Given the description of an element on the screen output the (x, y) to click on. 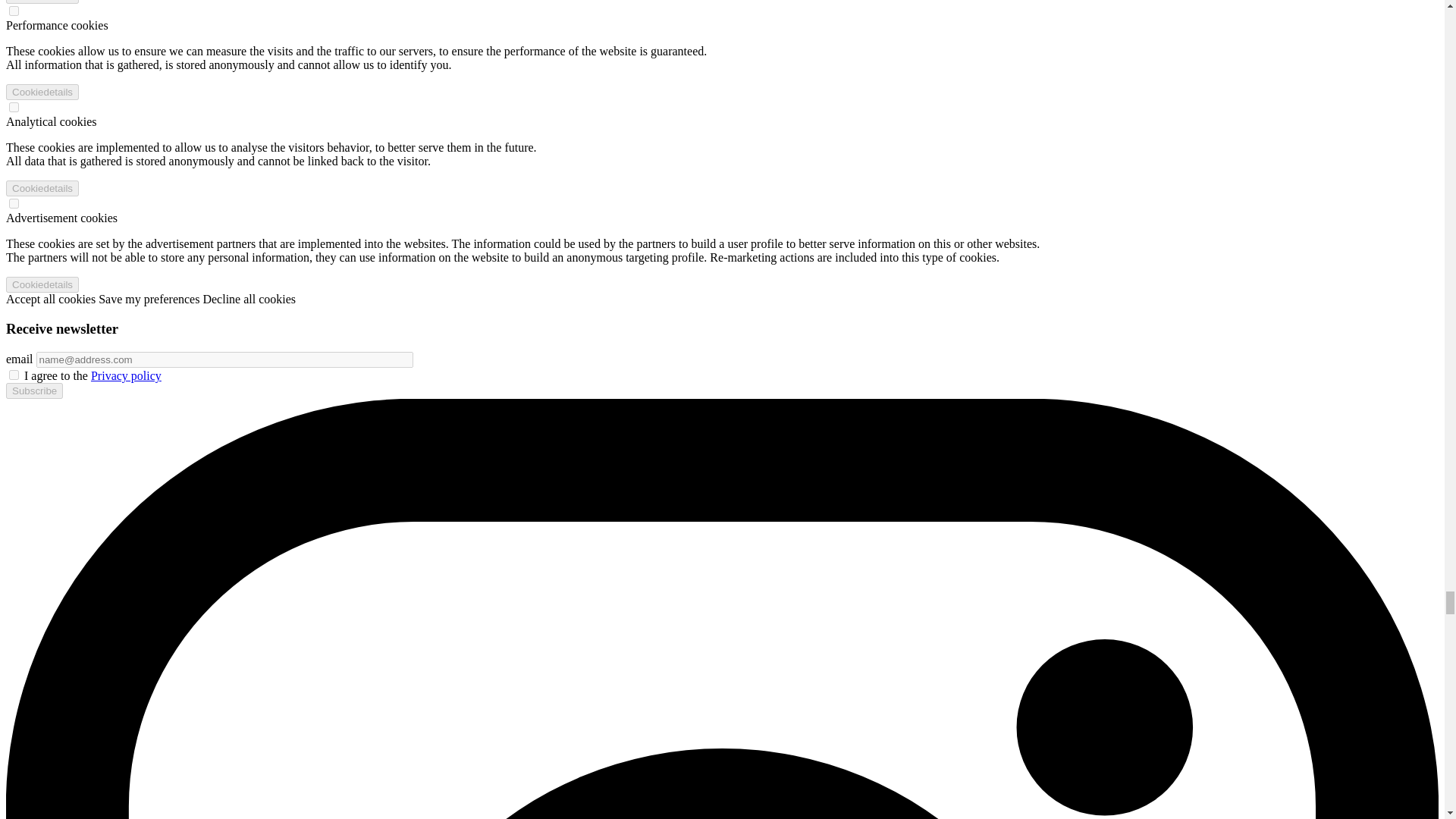
Privacy policy (125, 375)
performance (13, 10)
Subscribe (33, 390)
advertisement (13, 203)
analytical (13, 107)
